Given the description of an element on the screen output the (x, y) to click on. 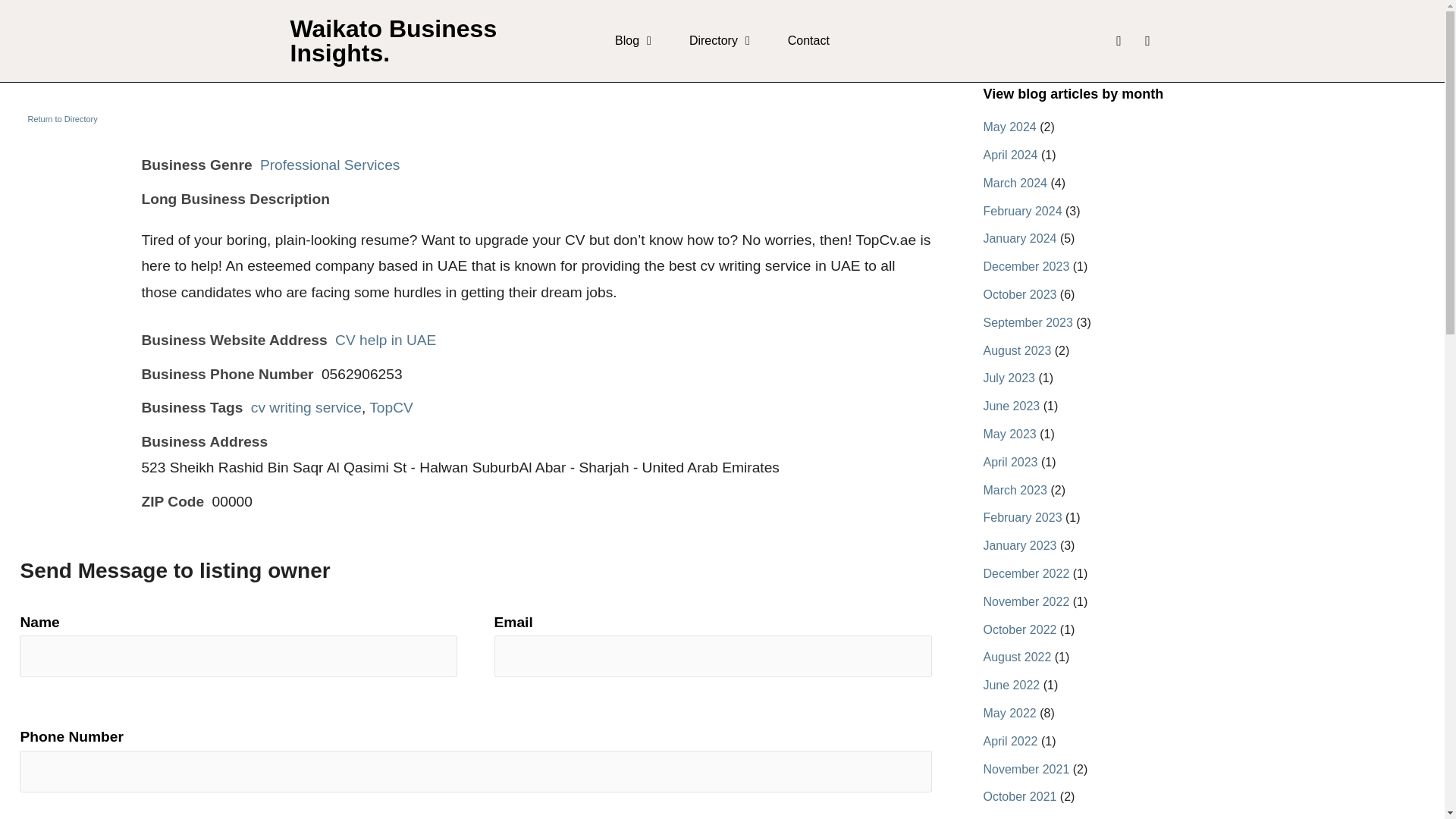
November 2022 (1025, 601)
September 2023 (1026, 322)
March 2024 (1014, 182)
August 2022 (1016, 656)
Contact (808, 40)
May 2024 (1008, 126)
October 2023 (1019, 294)
December 2023 (1025, 266)
March 2023 (1014, 490)
May 2023 (1008, 433)
Professional Services (330, 164)
August 2023 (1016, 350)
February 2023 (1021, 517)
June 2023 (1010, 405)
April 2024 (1009, 154)
